Given the description of an element on the screen output the (x, y) to click on. 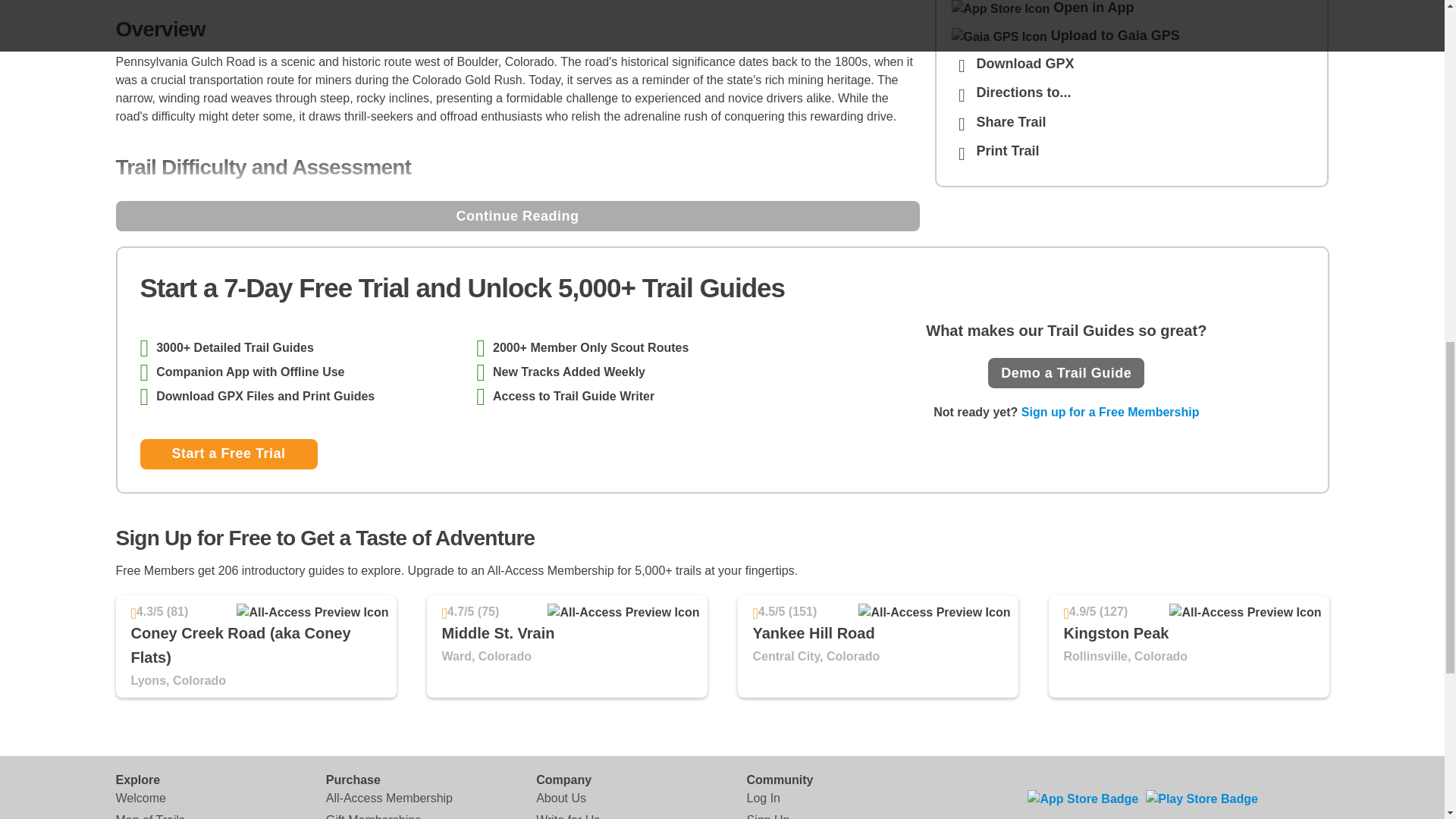
All-Access Membership (389, 798)
Gift Memberships (373, 815)
Demo a Trail Guide (1066, 372)
Continue Reading (516, 215)
About Us (560, 798)
Write for Us (567, 815)
Start a Free Trial (228, 453)
Sign up for a Free Membership (1110, 411)
Map of Trails (149, 815)
Welcome (140, 798)
